Given the description of an element on the screen output the (x, y) to click on. 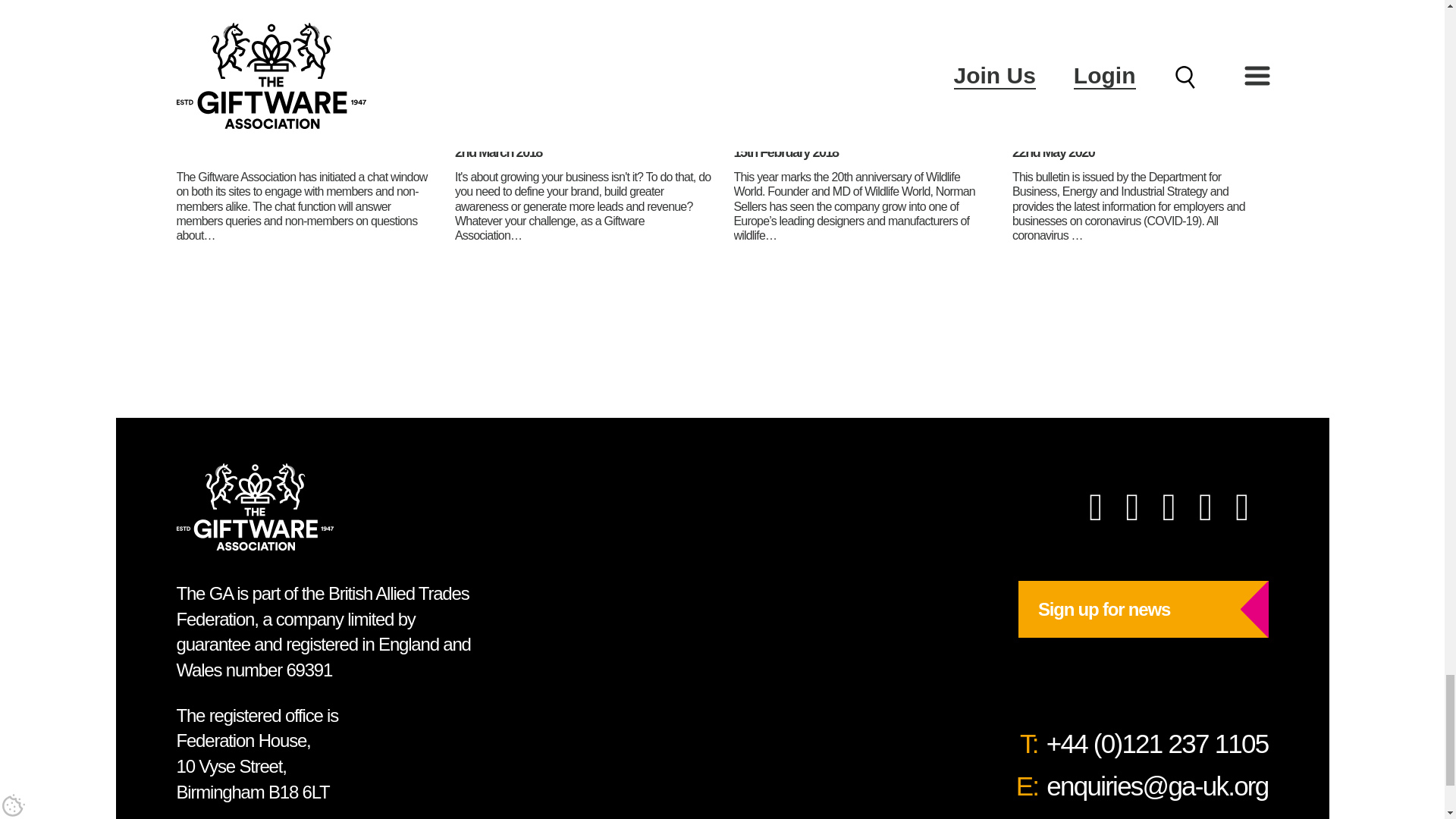
Sign up for news (1142, 609)
